Given the description of an element on the screen output the (x, y) to click on. 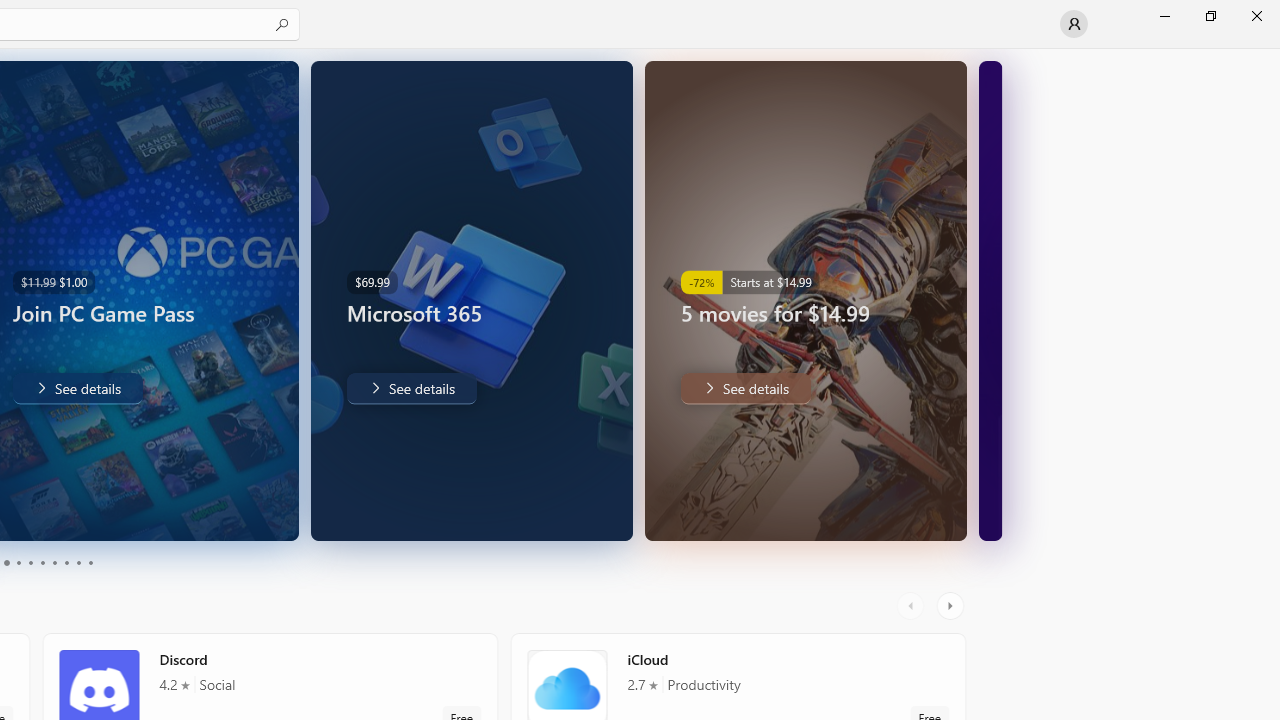
Page 8 (65, 562)
Page 4 (17, 562)
